Given the description of an element on the screen output the (x, y) to click on. 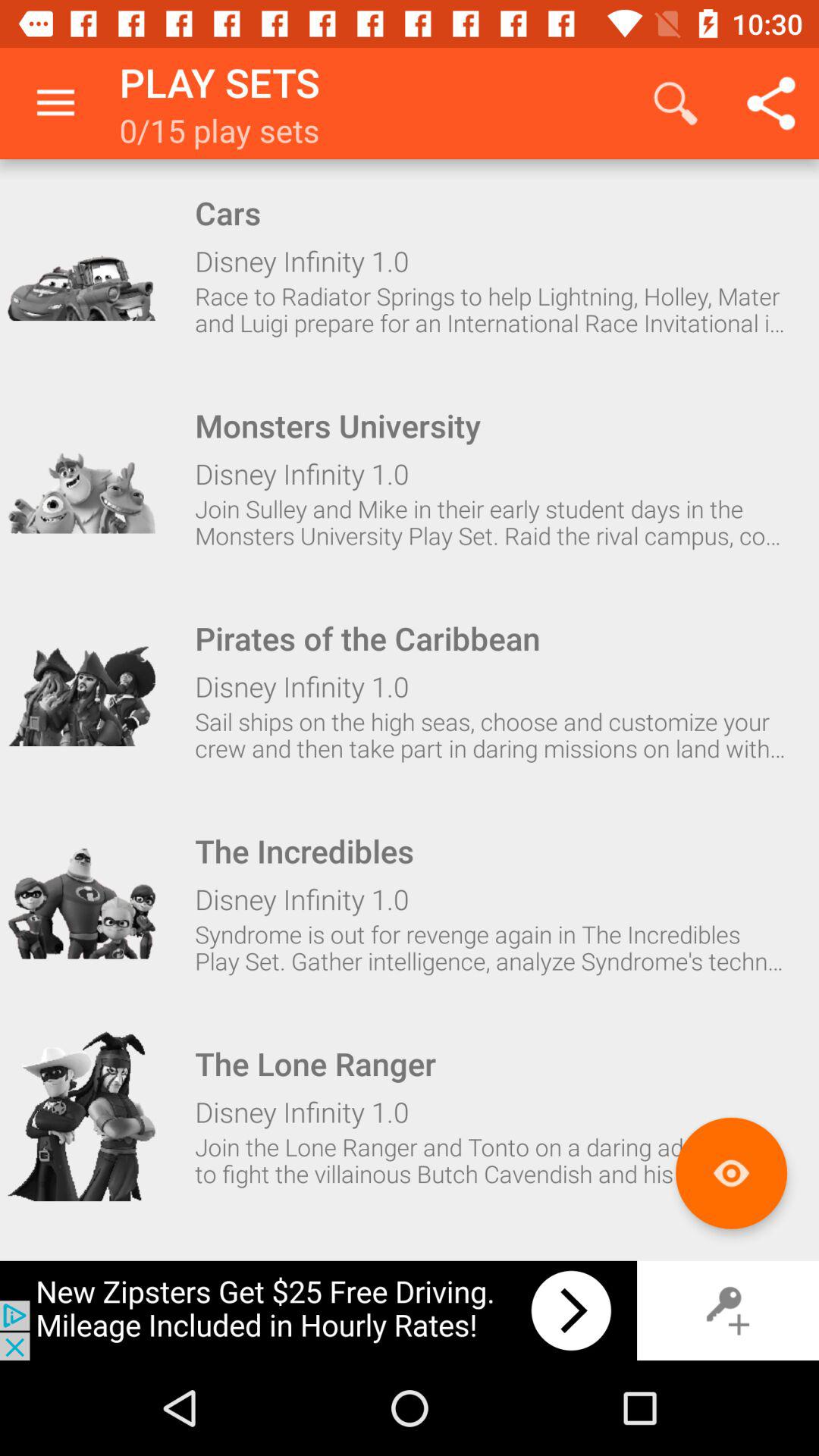
view this item (81, 477)
